Given the description of an element on the screen output the (x, y) to click on. 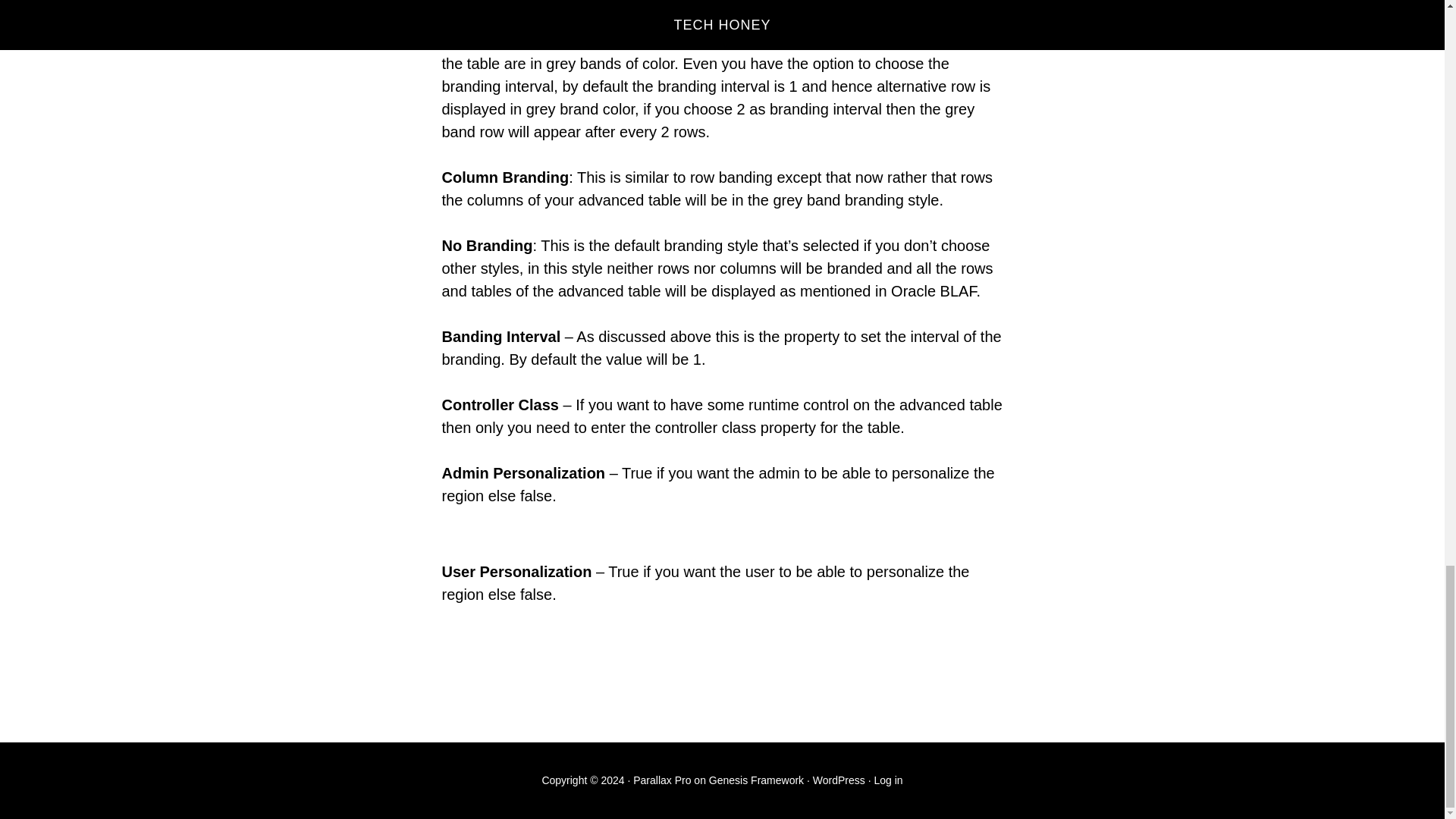
Genesis Framework (756, 779)
WordPress (838, 779)
Parallax Pro (661, 779)
Log in (887, 779)
